Given the description of an element on the screen output the (x, y) to click on. 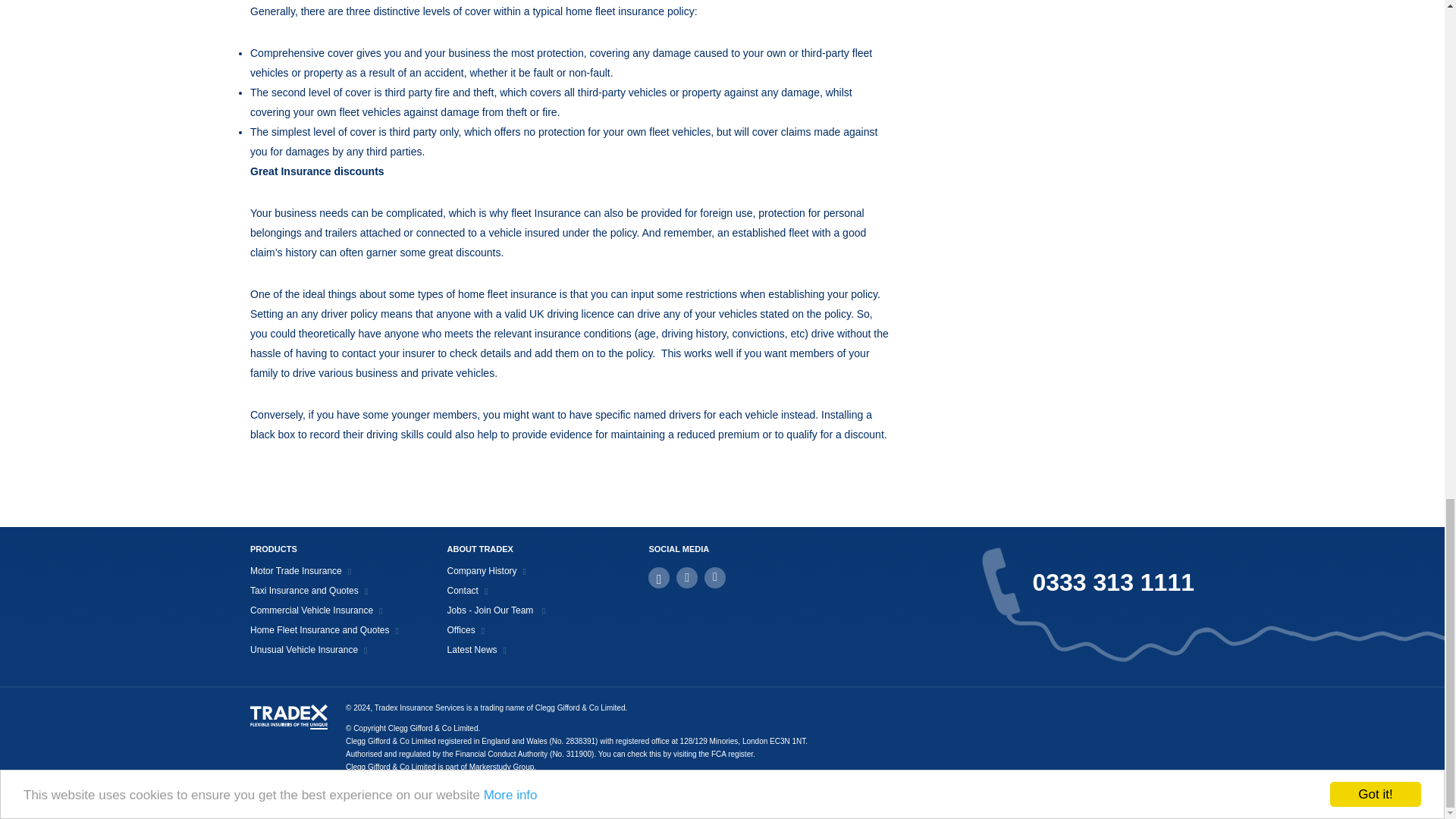
Document of Terms of Business (1162, 787)
